Given the description of an element on the screen output the (x, y) to click on. 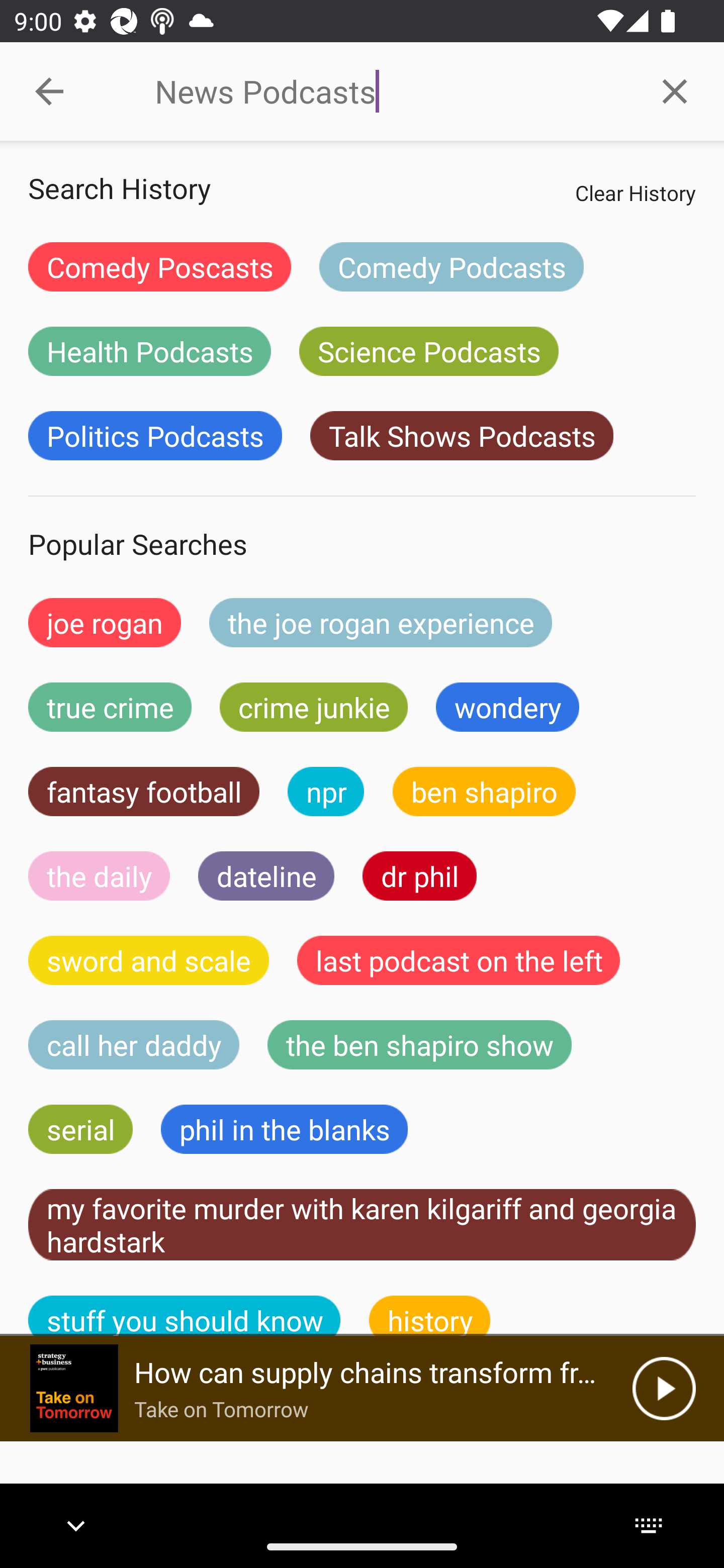
Collapse (49, 91)
Clear query (674, 90)
News Podcasts (389, 91)
Clear History (634, 192)
Comedy Poscasts (159, 266)
Comedy Podcasts (451, 266)
Health Podcasts (149, 351)
Science Podcasts (428, 351)
Politics Podcasts (155, 435)
Talk Shows Podcasts (461, 435)
joe rogan (104, 622)
the joe rogan experience (380, 622)
true crime (109, 707)
crime junkie (313, 707)
wondery (507, 707)
fantasy football (143, 791)
npr (325, 791)
ben shapiro (483, 791)
the daily (99, 875)
dateline (266, 875)
dr phil (419, 875)
sword and scale (148, 960)
last podcast on the left (458, 960)
call her daddy (133, 1044)
the ben shapiro show (419, 1044)
serial (80, 1128)
phil in the blanks (283, 1128)
stuff you should know (184, 1315)
history (429, 1315)
Play (663, 1388)
